Given the description of an element on the screen output the (x, y) to click on. 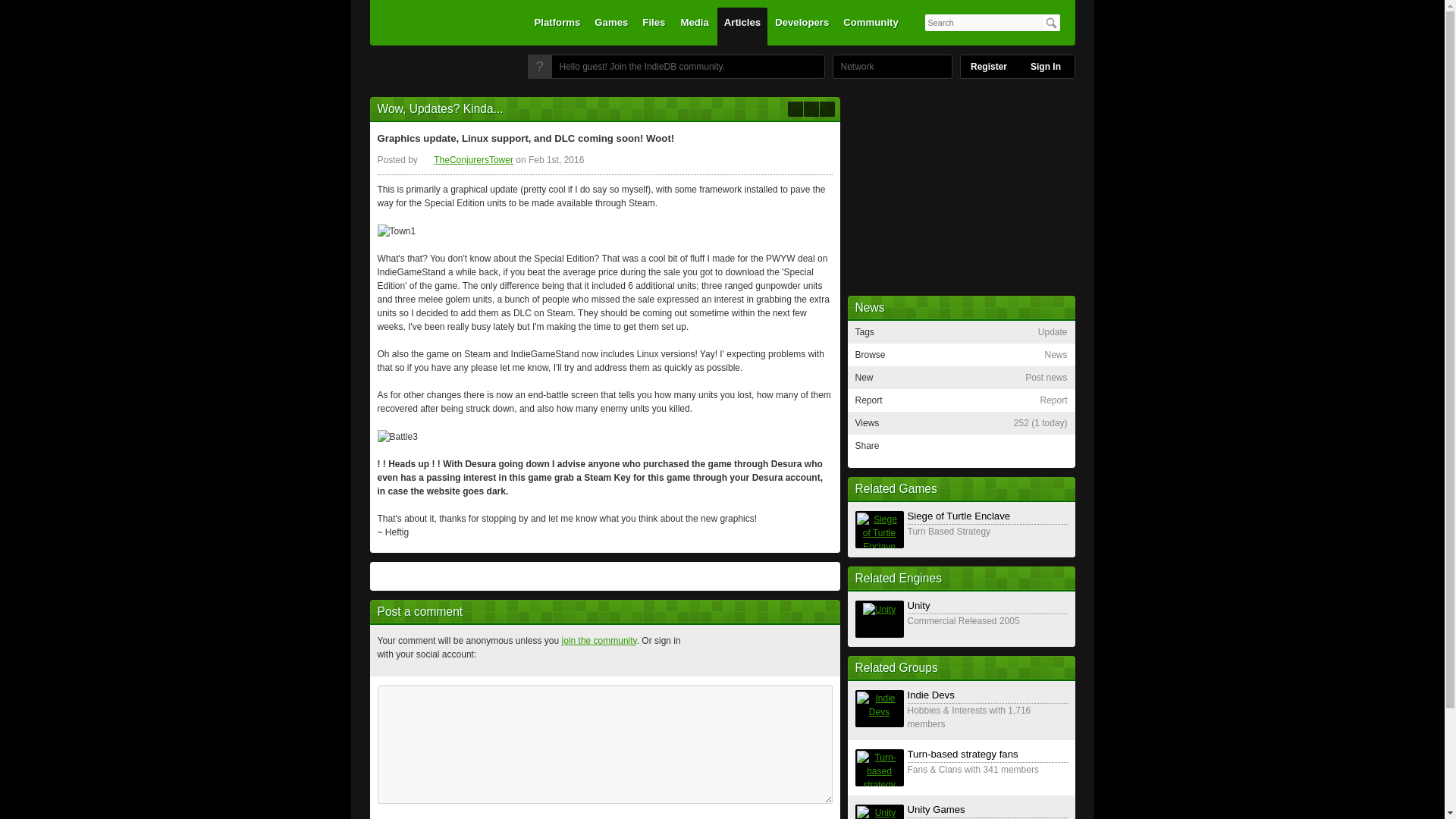
Wow, Updates? Kinda... Statistics (1040, 422)
Article Manager (466, 159)
Community (870, 26)
Click to connect via Facebook (707, 650)
Search IndieDB (1050, 22)
Click to connect via Twitter (744, 650)
Join IndieDB (539, 66)
Developers (801, 26)
Media (694, 26)
DBolical (852, 66)
